Given the description of an element on the screen output the (x, y) to click on. 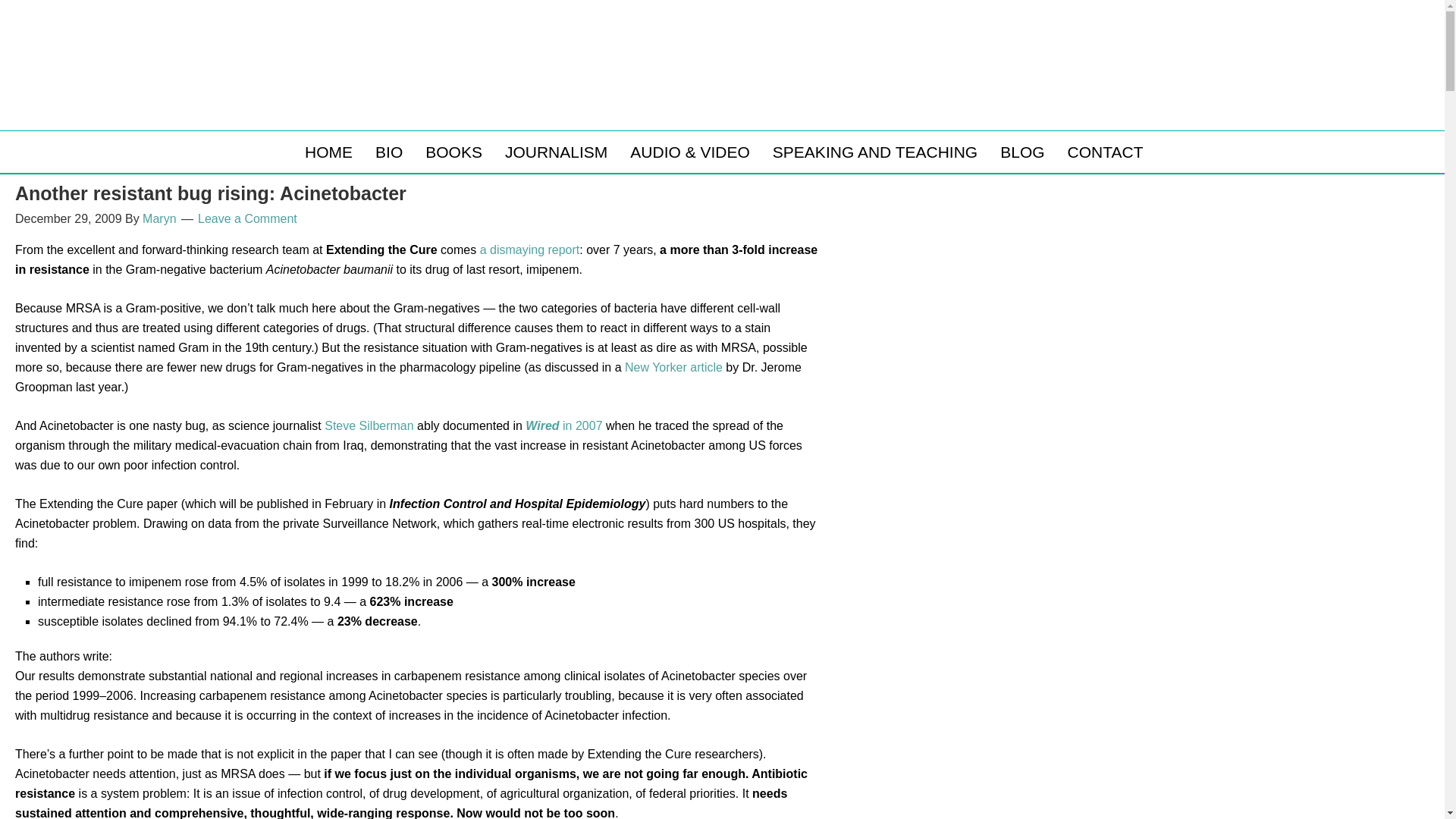
New Yorker article (673, 367)
BOOKS (453, 151)
CONTACT (1105, 151)
a dismaying report (529, 249)
Wired in 2007 (563, 425)
Leave a Comment (247, 218)
HOME (329, 151)
Steve Silberman (368, 425)
Another resistant bug rising: Acinetobacter (210, 192)
Maryn (159, 218)
JOURNALISM (555, 151)
SPEAKING AND TEACHING (874, 151)
BLOG (1021, 151)
Maryn McKenna (471, 90)
BIO (388, 151)
